Given the description of an element on the screen output the (x, y) to click on. 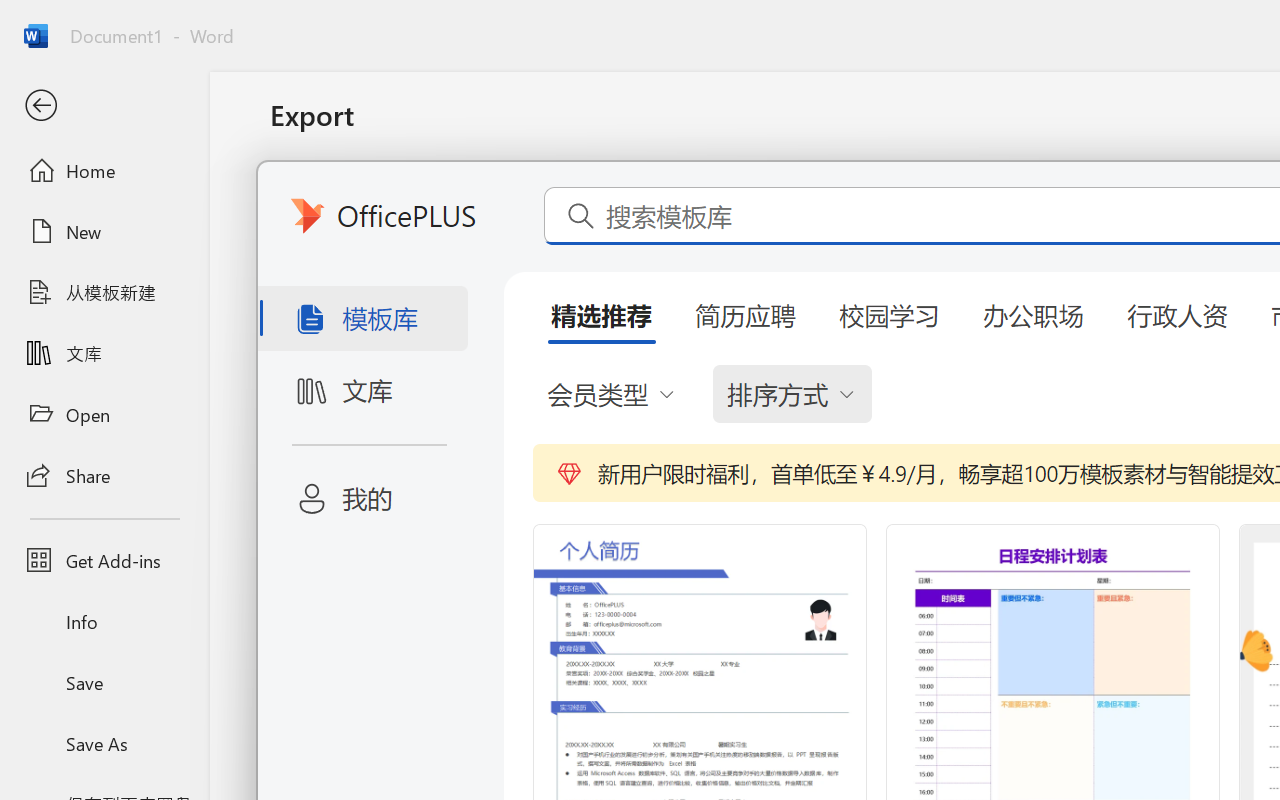
Save As (104, 743)
New (104, 231)
Get Add-ins (104, 560)
